Given the description of an element on the screen output the (x, y) to click on. 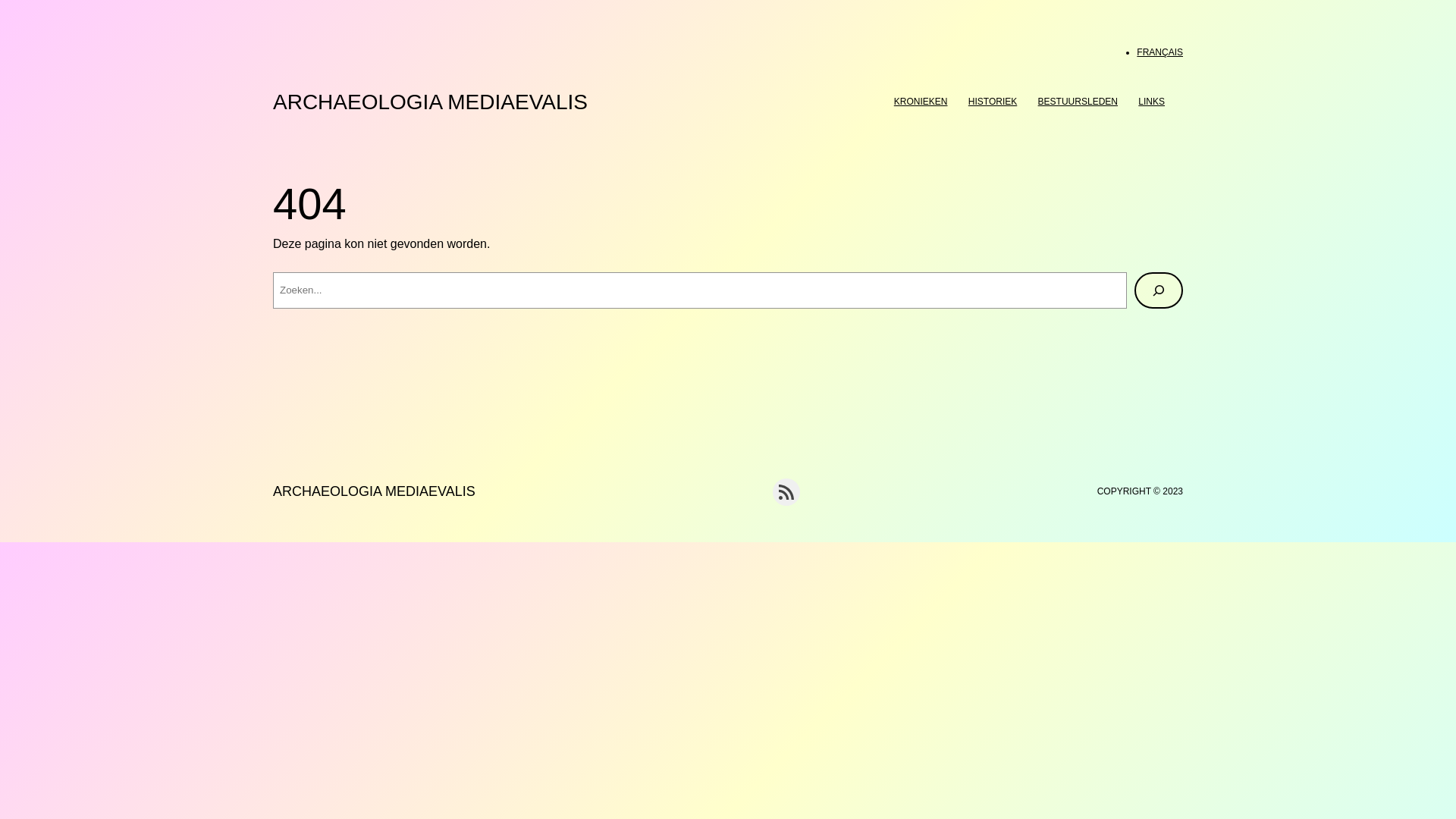
HISTORIEK Element type: text (992, 101)
BESTUURSLEDEN Element type: text (1077, 101)
RSS FEED Element type: text (786, 491)
ARCHAEOLOGIA MEDIAEVALIS Element type: text (430, 101)
ARCHAEOLOGIA MEDIAEVALIS Element type: text (374, 490)
KRONIEKEN Element type: text (920, 101)
LINKS Element type: text (1151, 101)
